Given the description of an element on the screen output the (x, y) to click on. 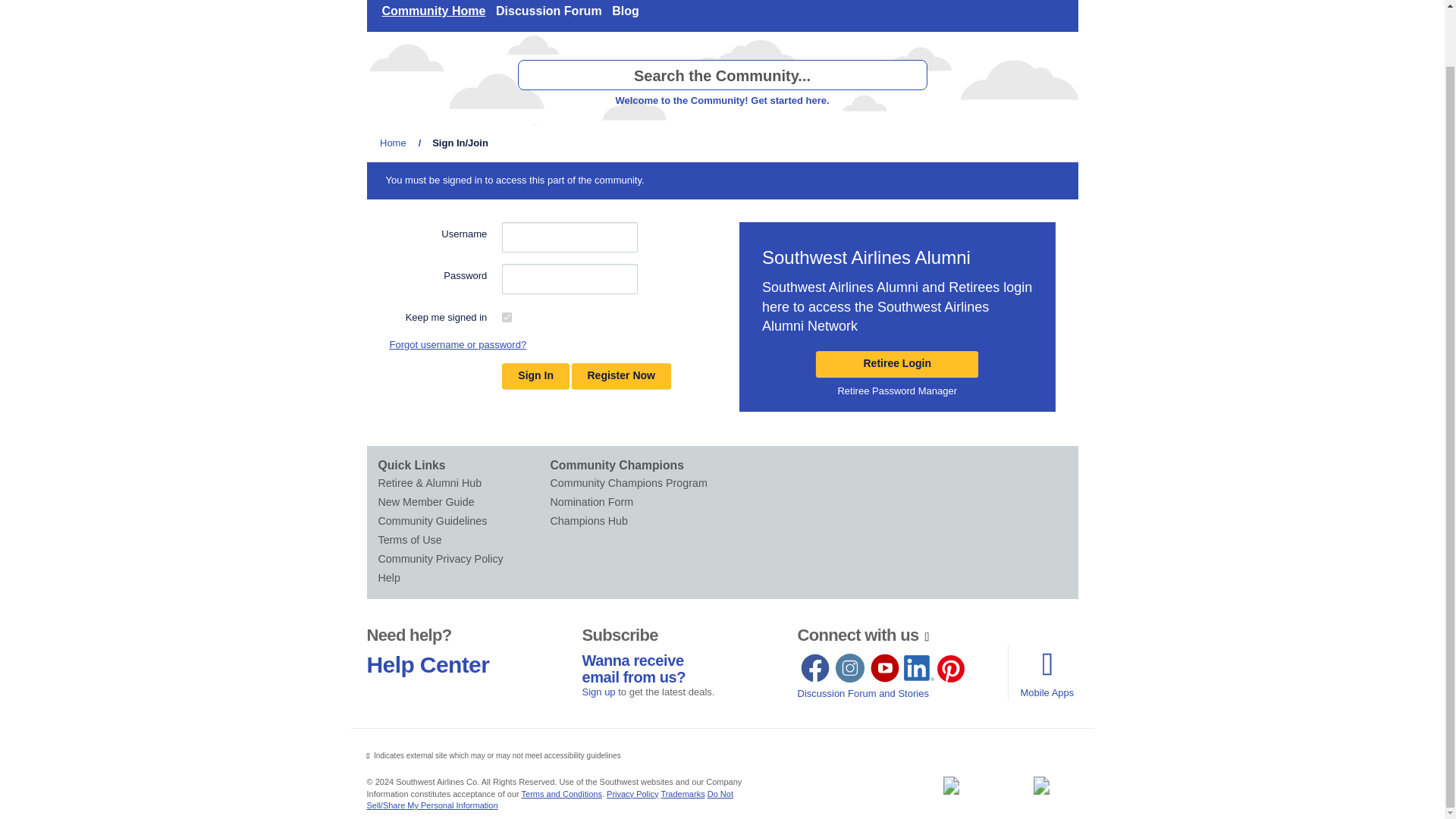
Search (911, 74)
Search (911, 74)
Southwest Business logo and link (950, 785)
Register Now (621, 376)
Search (721, 74)
Sign In (535, 376)
Blog (625, 15)
Welcome to the Community! Get started here. (721, 100)
Community Home (433, 15)
Community Champions Program (636, 483)
Forgot username or password? (458, 345)
Terms of Use (463, 539)
Search (911, 74)
New Member Guide (463, 502)
Home (393, 142)
